Given the description of an element on the screen output the (x, y) to click on. 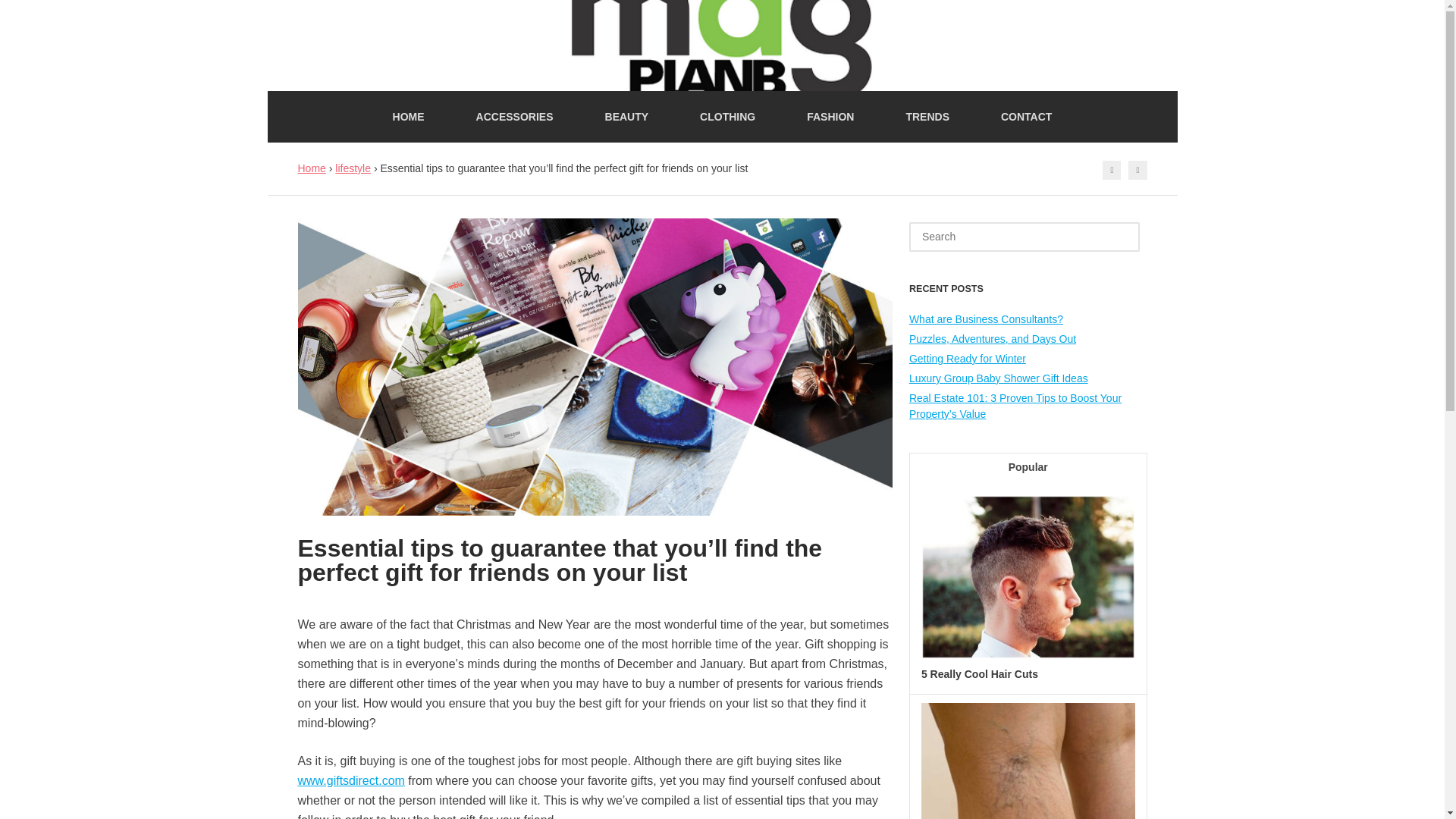
BEAUTY (627, 116)
Luxury Group Baby Shower Gift Ideas (997, 378)
Puzzles, Adventures, and Days Out (991, 338)
HOME (407, 116)
ACCESSORIES (514, 116)
What are Business Consultants? (985, 318)
Getting Ready for Winter (967, 358)
Search (36, 13)
5 Really Cool Hair Cuts (979, 674)
lifestyle (352, 168)
www.giftsdirect.com (350, 780)
CONTACT (1026, 116)
TRENDS (927, 116)
Popular (1028, 468)
CLOTHING (727, 116)
